Given the description of an element on the screen output the (x, y) to click on. 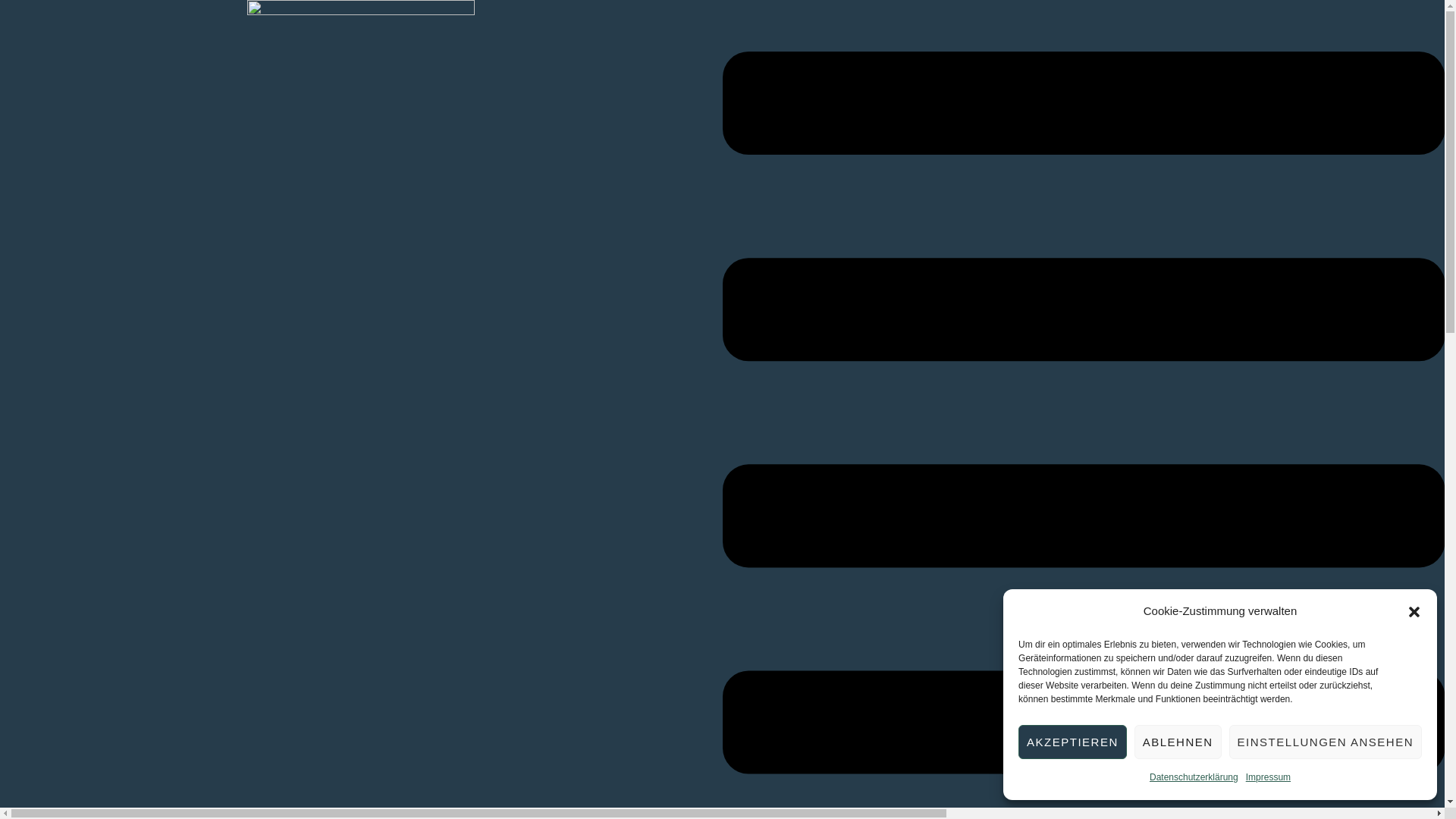
AKZEPTIEREN Element type: text (1072, 741)
EINSTELLUNGEN ANSEHEN Element type: text (1325, 741)
ABLEHNEN Element type: text (1177, 741)
Impressum Element type: text (1267, 777)
